Given the description of an element on the screen output the (x, y) to click on. 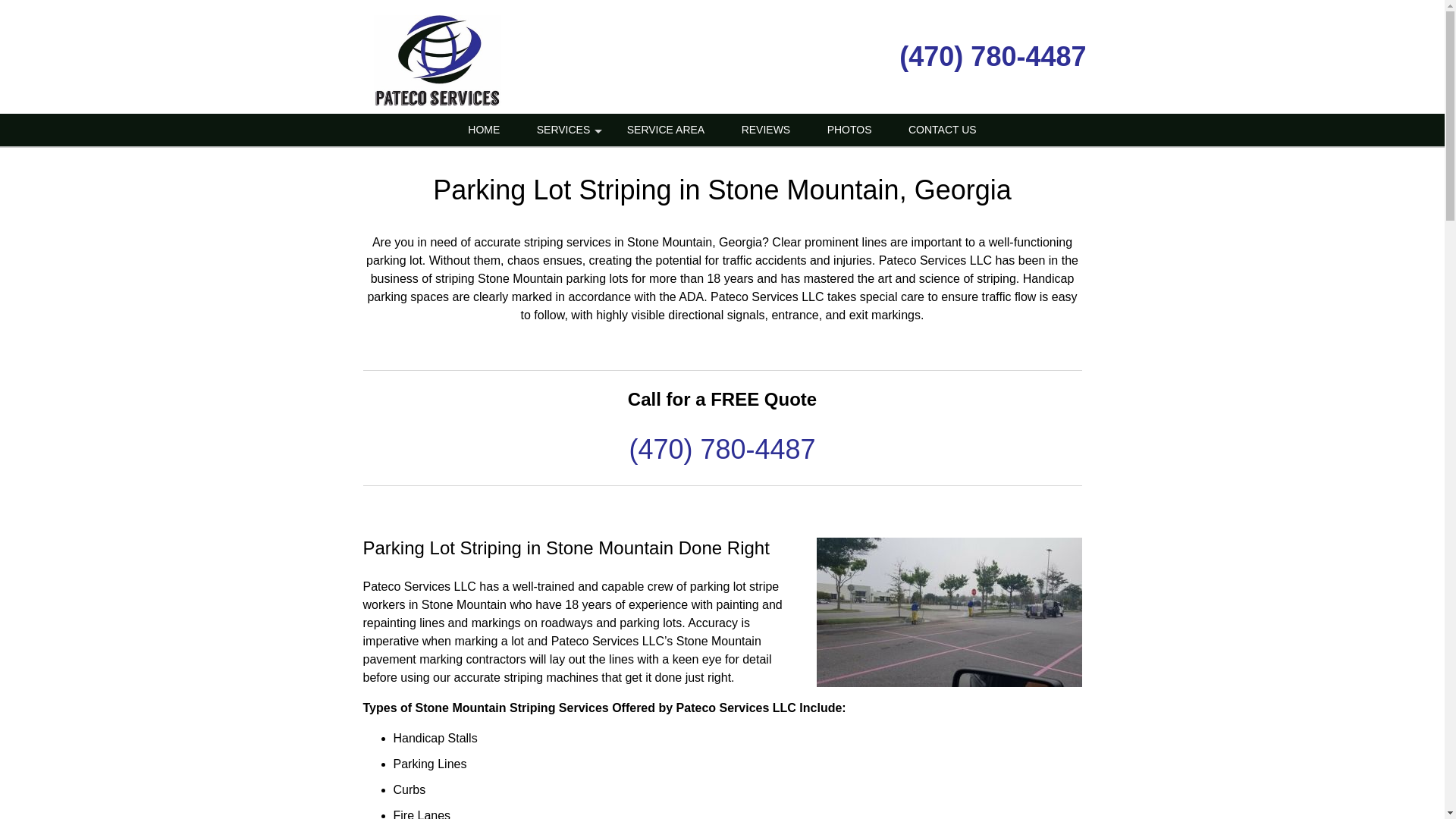
HOME (483, 129)
PHOTOS (849, 129)
REVIEWS (766, 129)
CONTACT US (941, 129)
SERVICE AREA (665, 129)
